Given the description of an element on the screen output the (x, y) to click on. 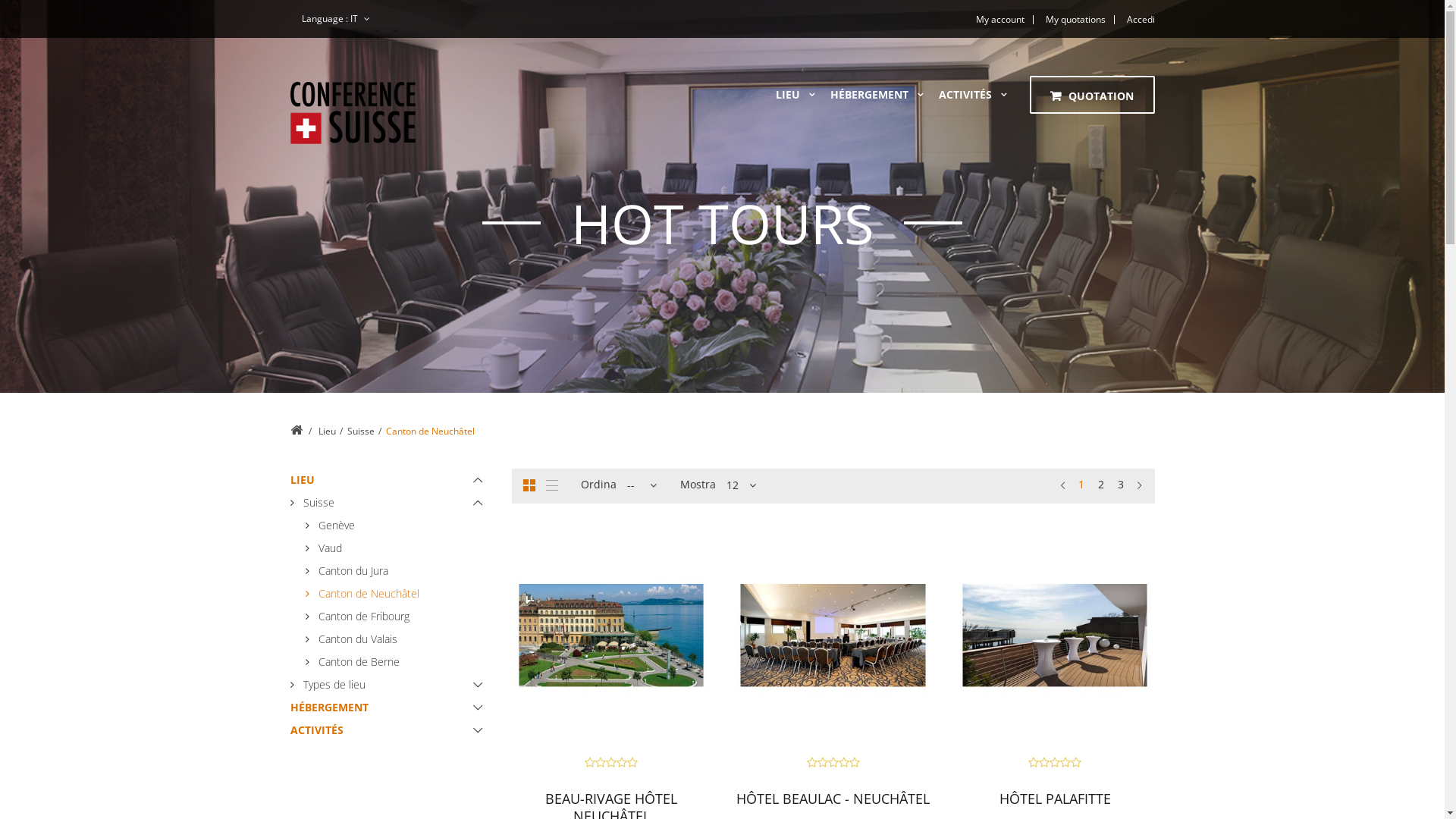
Lista Element type: hover (552, 485)
3 Element type: text (1120, 484)
Torna alla Home Element type: hover (295, 429)
My quotations Element type: text (1074, 19)
Suisse Element type: text (360, 431)
My account Element type: text (999, 19)
Canton de Berne Element type: text (396, 661)
Griglia Element type: hover (529, 485)
Canton du Valais Element type: text (396, 638)
Suisse Element type: text (389, 502)
Canton du Jura Element type: text (396, 570)
Types de lieu Element type: text (389, 684)
LIEU Element type: text (389, 479)
Canton de Fribourg Element type: text (396, 616)
Vaud Element type: text (396, 547)
Lieu Element type: text (326, 431)
Accedi Element type: text (1135, 19)
2 Element type: text (1101, 484)
LIEU Element type: text (786, 94)
QUOTATION Element type: text (1092, 96)
